Given the description of an element on the screen output the (x, y) to click on. 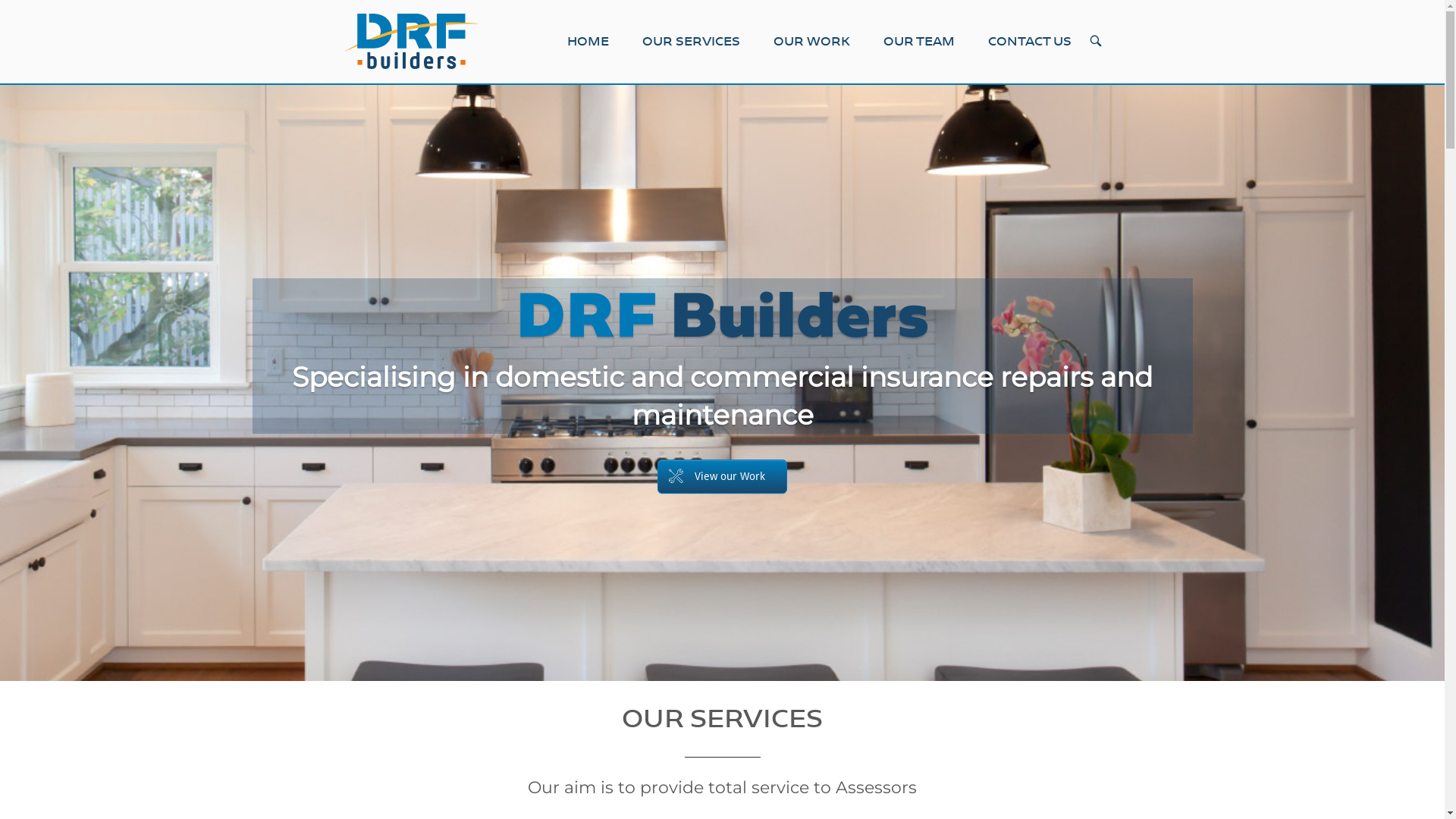
OUR SERVICES Element type: text (690, 41)
CONTACT US Element type: text (1028, 41)
HOME Element type: text (588, 41)
Request a Quote Element type: text (722, 476)
OUR WORK Element type: text (811, 41)
Home Element type: text (410, 40)
OUR TEAM Element type: text (918, 41)
OPEN SEARCH BAR Element type: text (1094, 41)
